Given the description of an element on the screen output the (x, y) to click on. 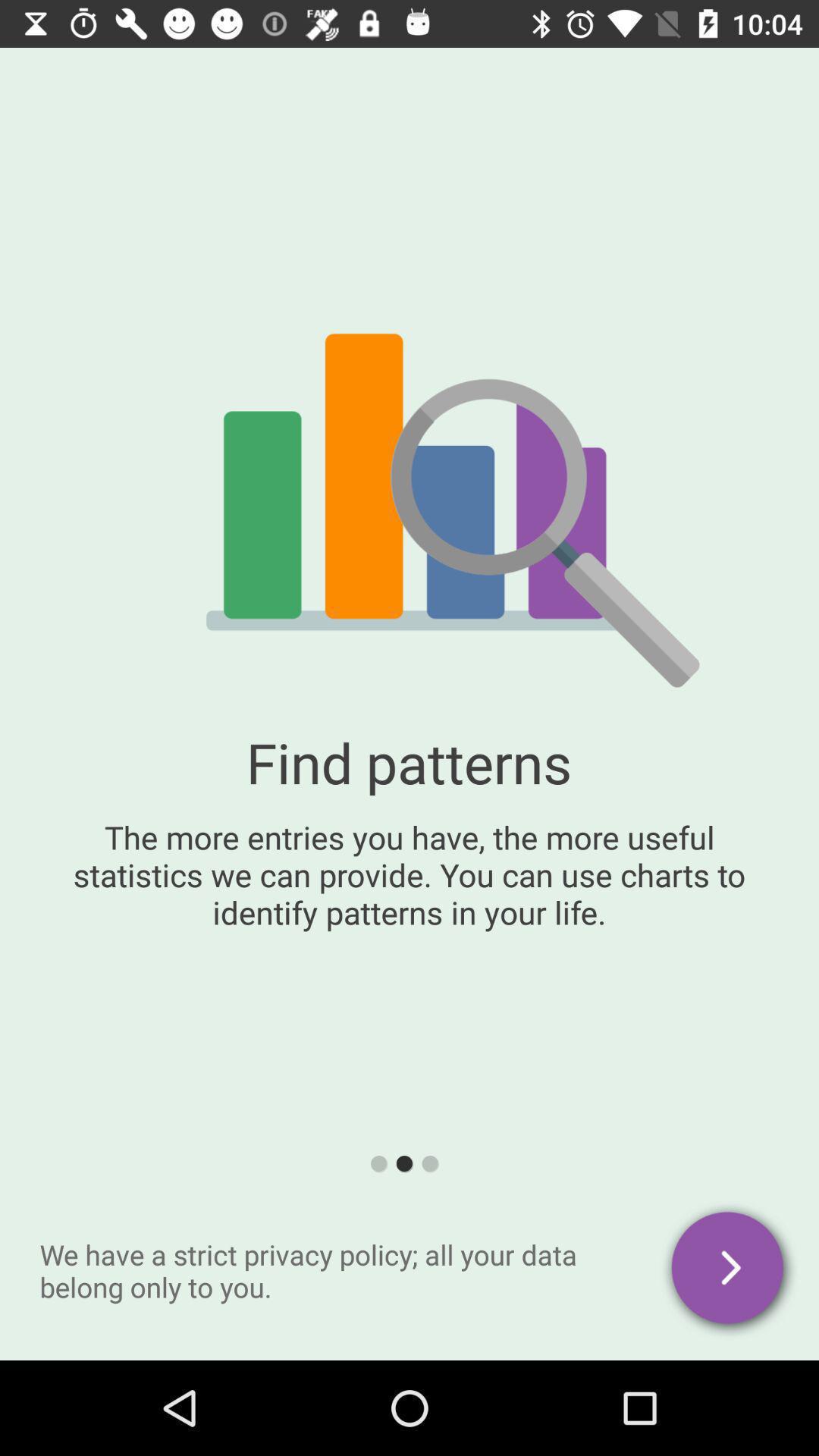
choose icon to the right of the we have a item (729, 1270)
